Given the description of an element on the screen output the (x, y) to click on. 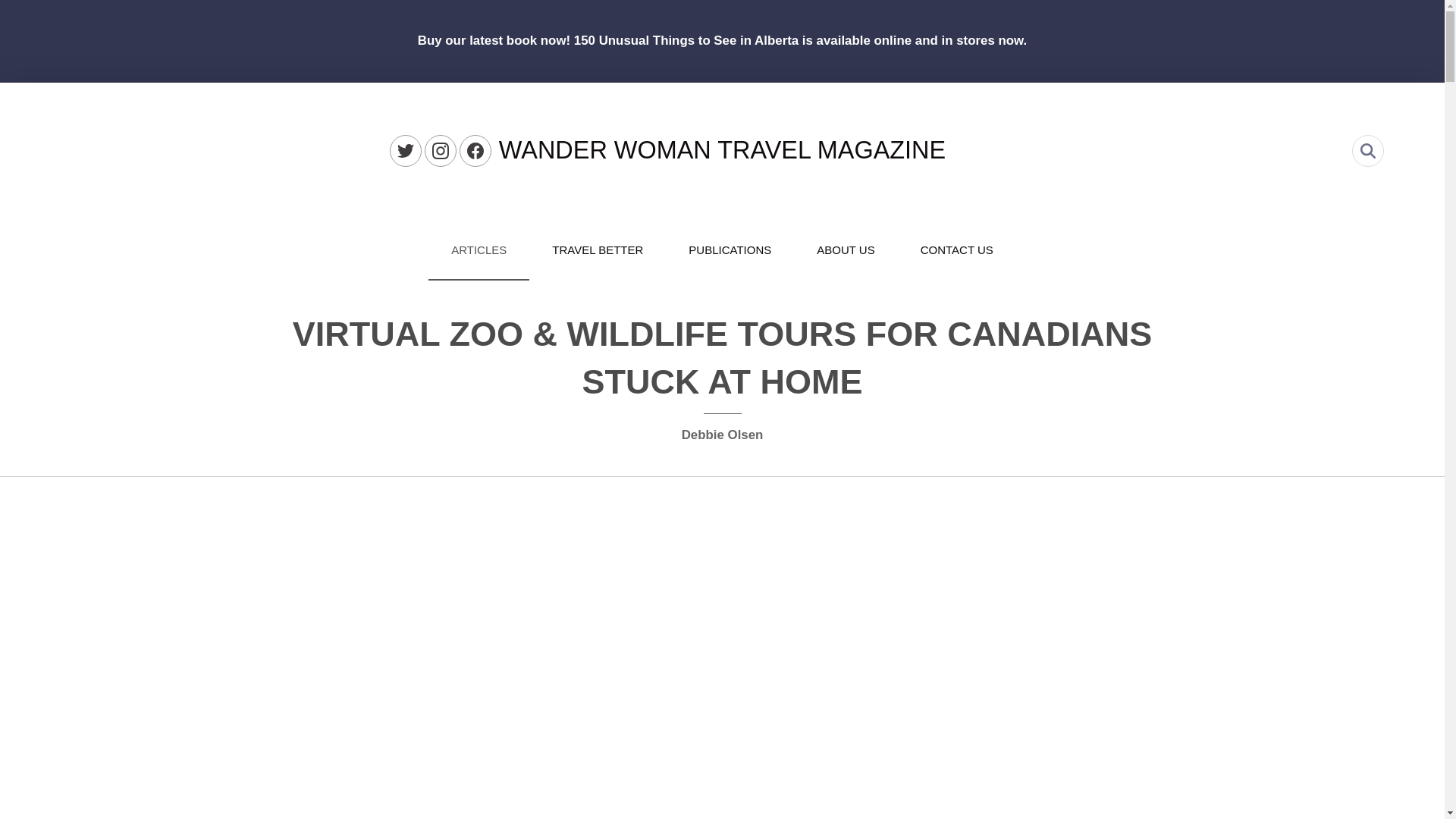
New Window (441, 151)
PUBLICATIONS (729, 250)
New Window (476, 151)
Twitter (406, 151)
WANDER WOMAN TRAVEL MAGAZINE (721, 150)
Instagram (441, 151)
ARTICLES (478, 250)
Facebook (476, 151)
New Window (406, 151)
